Given the description of an element on the screen output the (x, y) to click on. 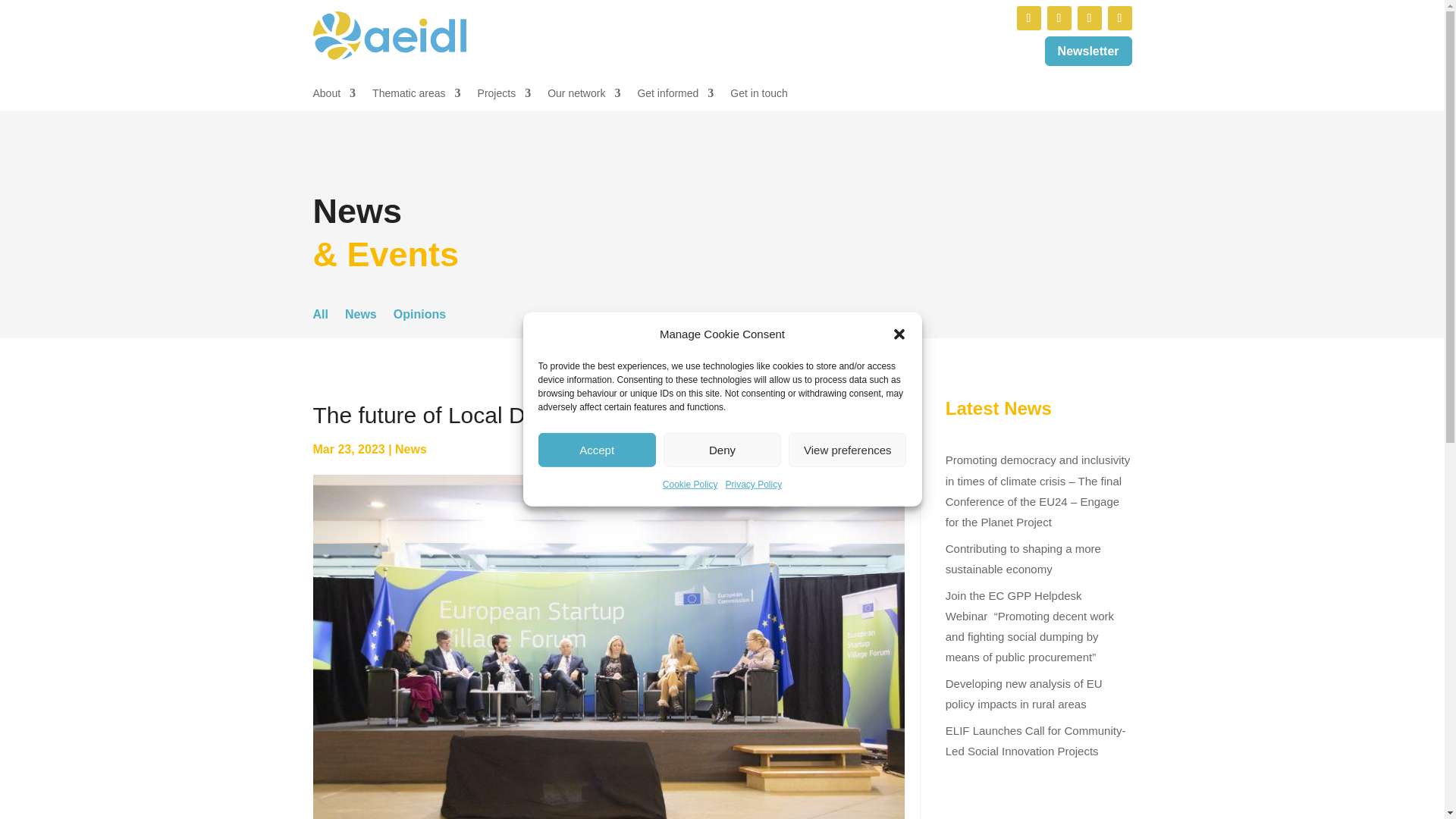
Thematic areas (416, 95)
Our network (583, 95)
Follow on Flickr (1118, 17)
Newsletter (1088, 51)
Cookie Policy (689, 485)
Privacy Policy (753, 485)
Follow on Facebook (1088, 17)
Deny (721, 449)
Projects (504, 95)
Follow on LinkedIn (1028, 17)
Follow on X (1058, 17)
About (334, 95)
View preferences (847, 449)
Accept (597, 449)
